Given the description of an element on the screen output the (x, y) to click on. 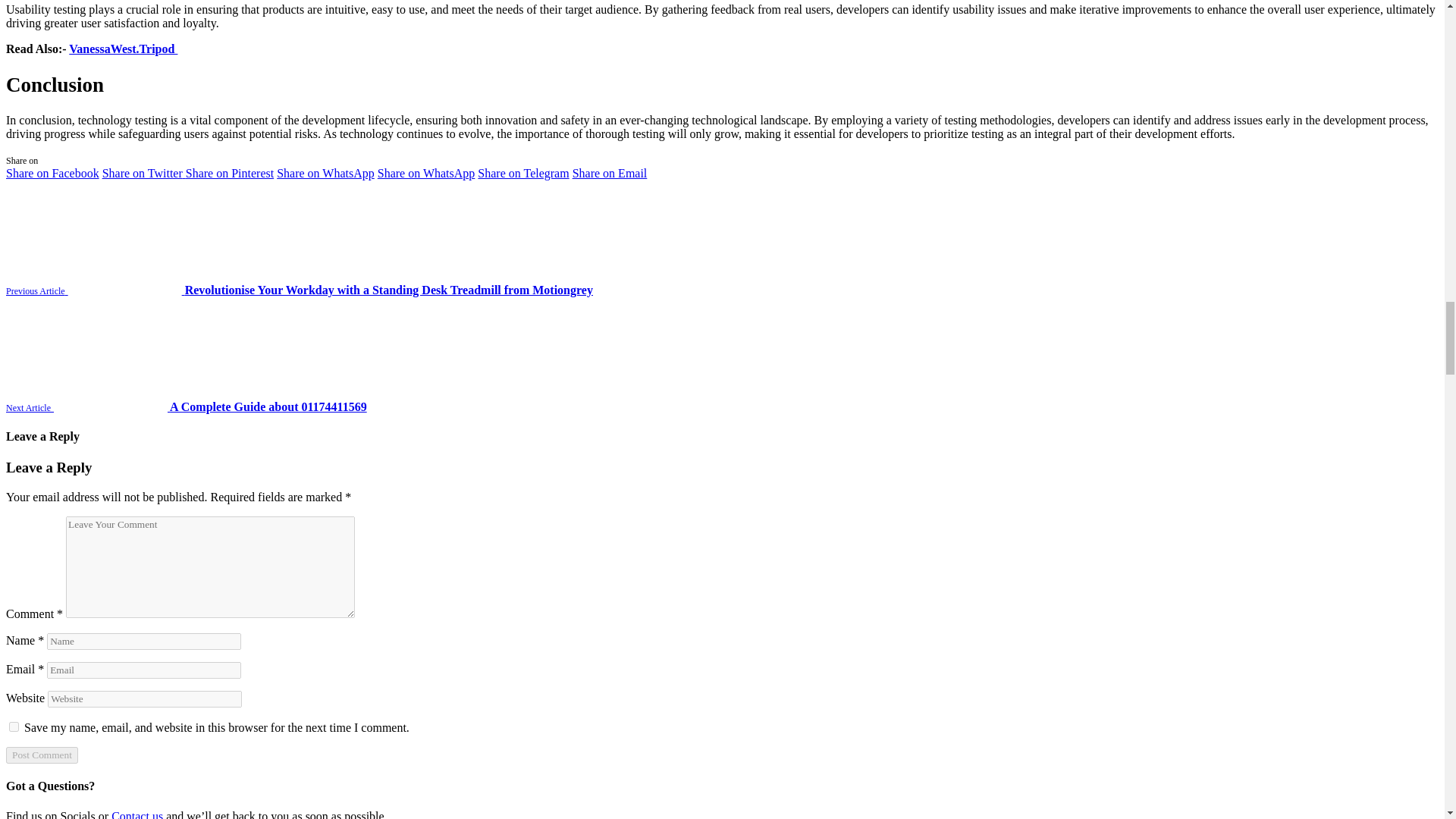
yes (13, 726)
Post Comment (41, 754)
